Given the description of an element on the screen output the (x, y) to click on. 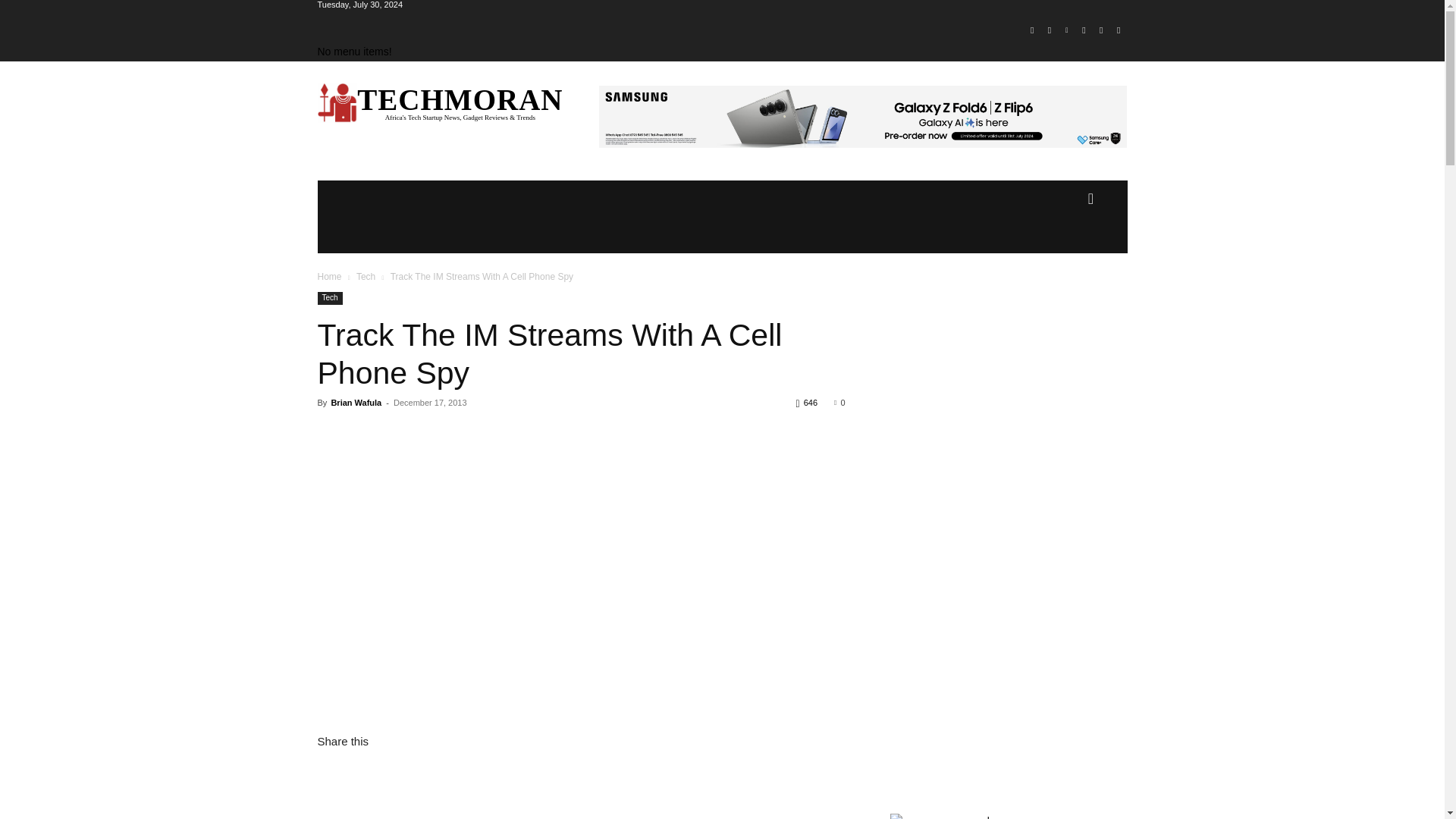
Facebook (1032, 30)
Twitter (1101, 30)
Instagram (1049, 30)
Telegram (1084, 30)
Linkedin (1066, 30)
Youtube (1117, 30)
View all posts in Tech (365, 276)
